Given the description of an element on the screen output the (x, y) to click on. 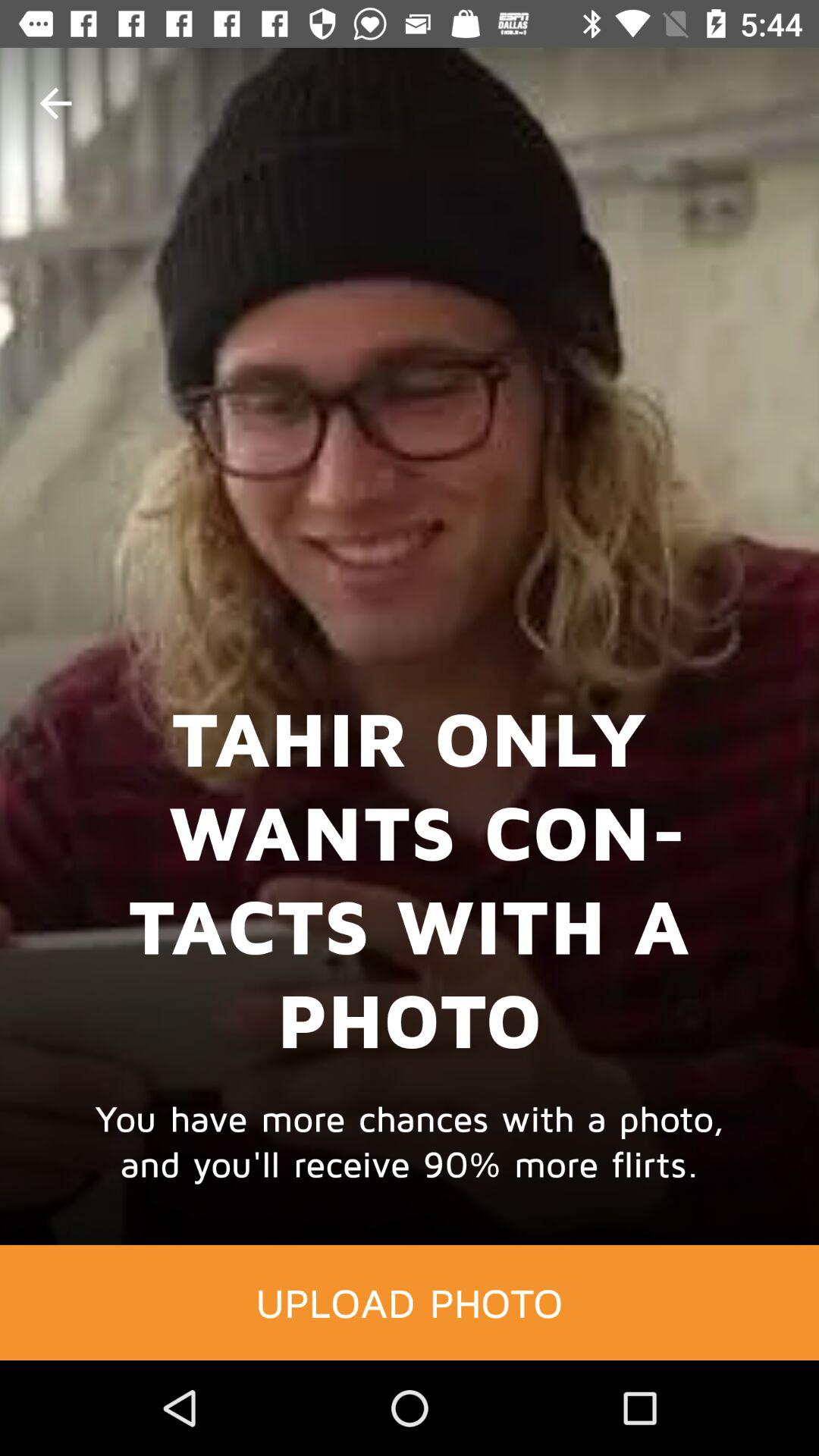
choose the icon above the tahir only wants icon (55, 103)
